Given the description of an element on the screen output the (x, y) to click on. 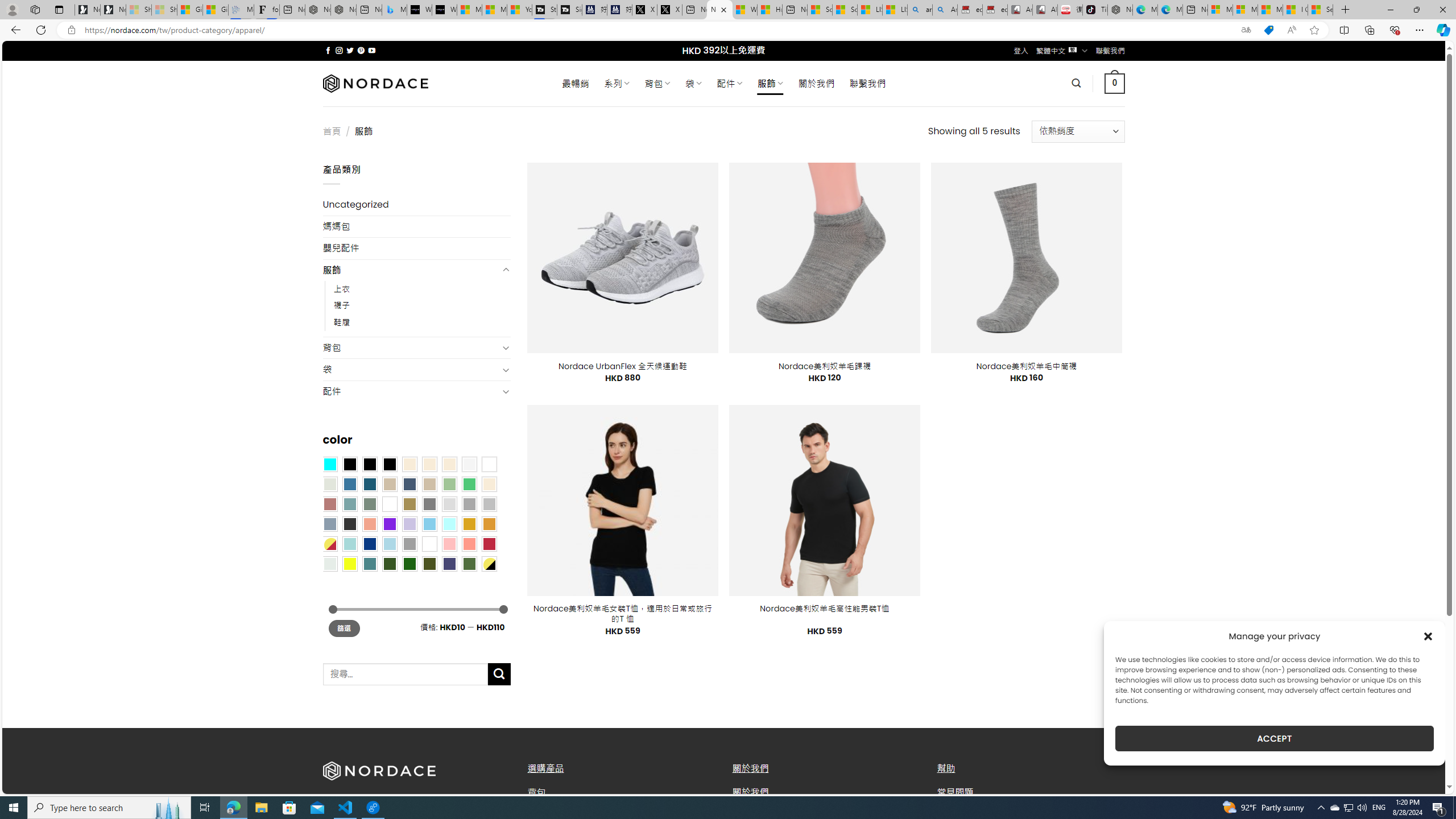
Huge shark washes ashore at New York City beach | Watch (769, 9)
Follow on Facebook (327, 50)
